Given the description of an element on the screen output the (x, y) to click on. 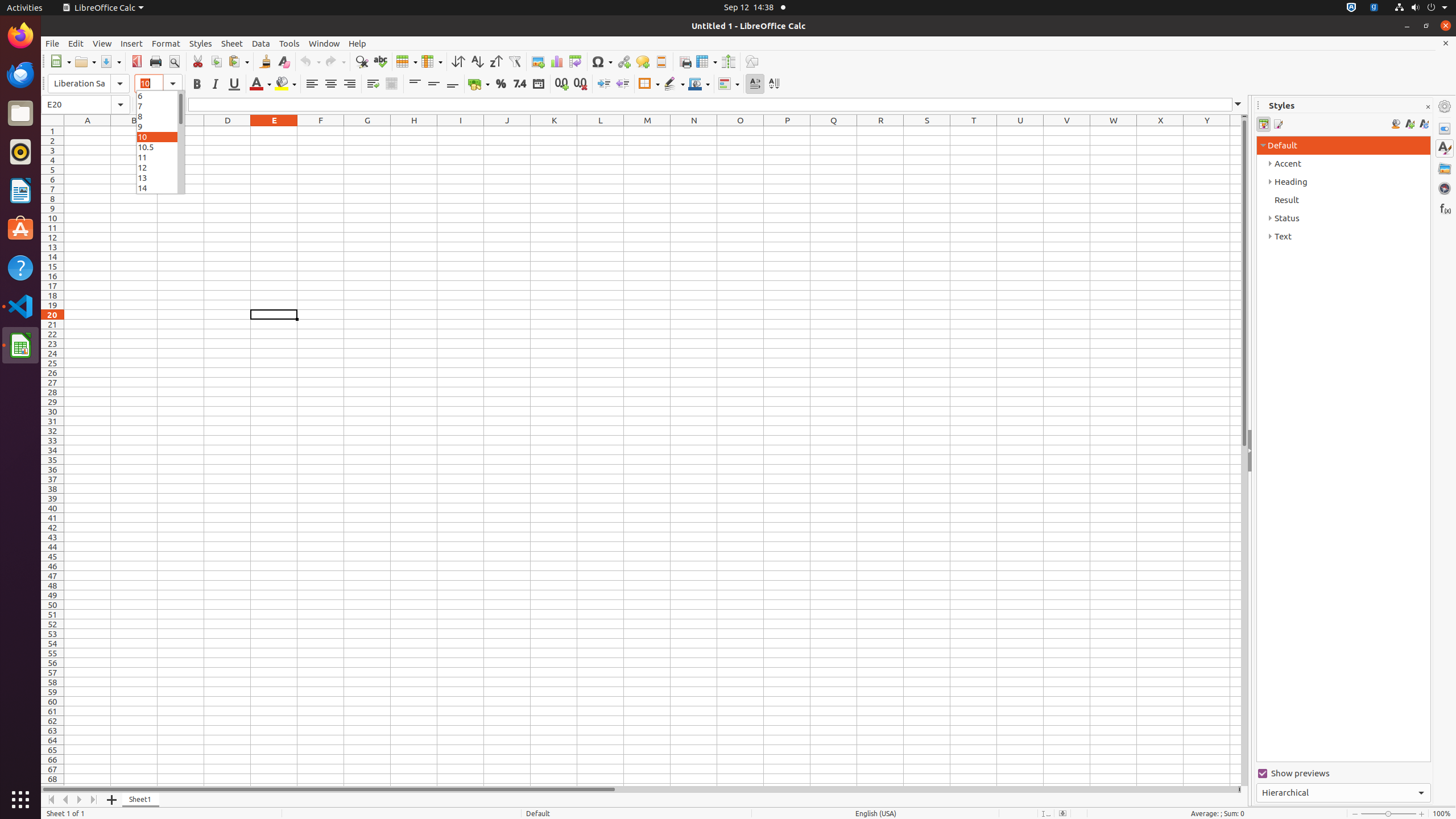
Text direction from left to right Element type: toggle-button (754, 83)
Move Left Element type: push-button (65, 799)
Q1 Element type: table-cell (833, 130)
Background Color Element type: push-button (285, 83)
